Given the description of an element on the screen output the (x, y) to click on. 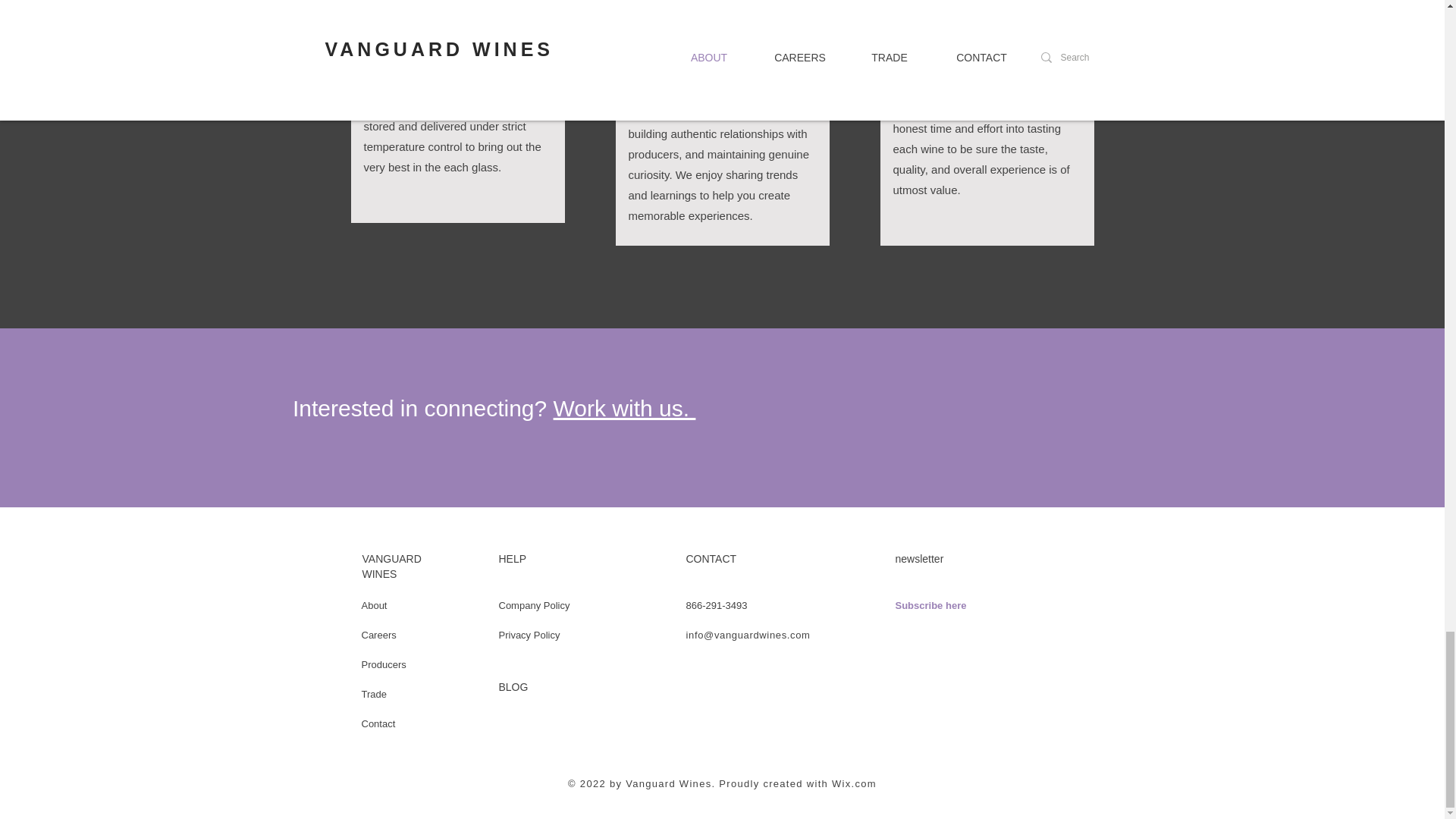
Subscribe here (930, 604)
Privacy Policy (529, 634)
Producers (383, 664)
Trade (373, 694)
Contact (377, 723)
Wix.com (853, 783)
About (374, 604)
Work with us.  (624, 407)
Company Policy (534, 604)
Careers (378, 634)
BLOG (513, 686)
